Given the description of an element on the screen output the (x, y) to click on. 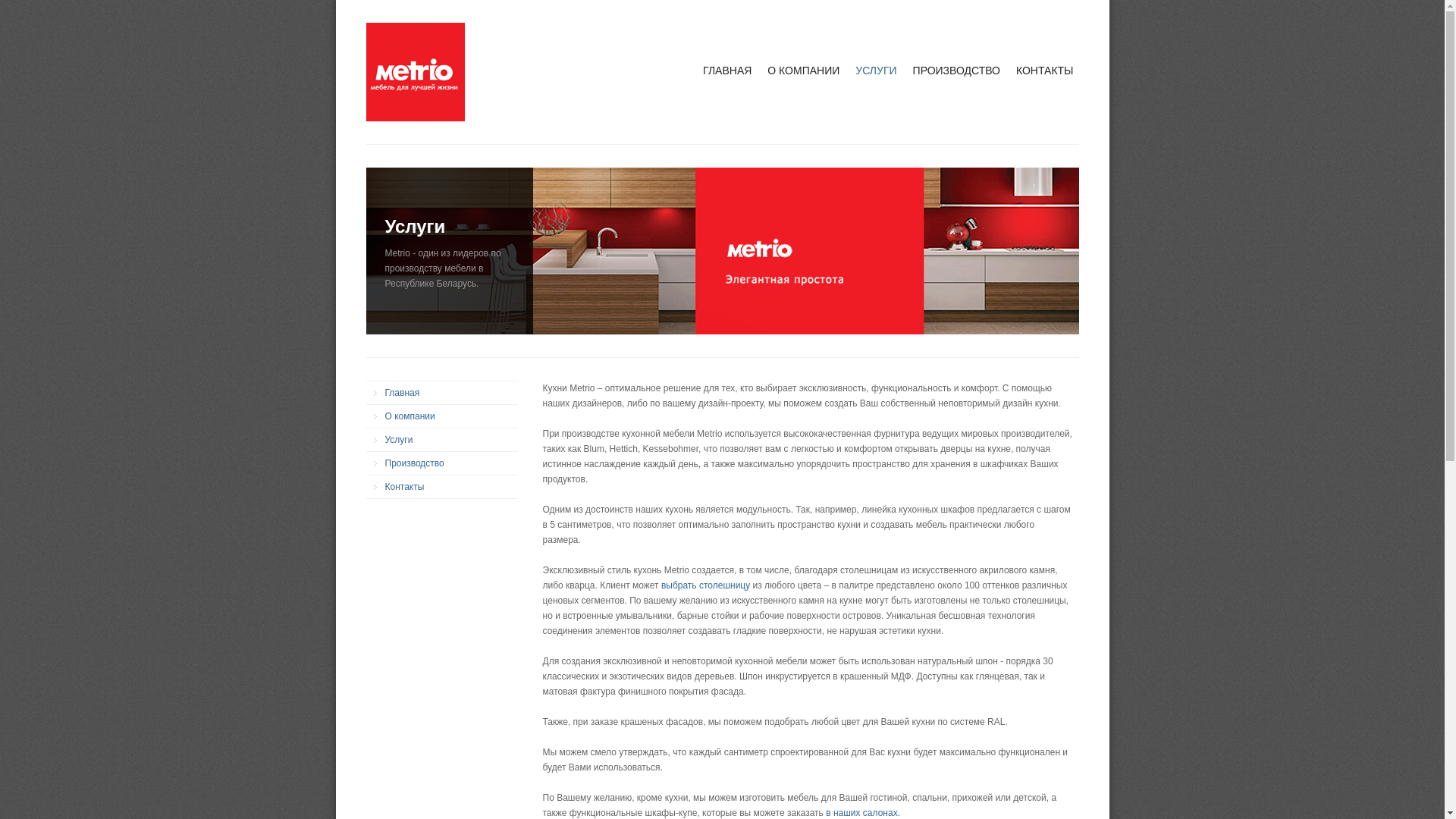
Back Home Element type: hover (414, 71)
